Given the description of an element on the screen output the (x, y) to click on. 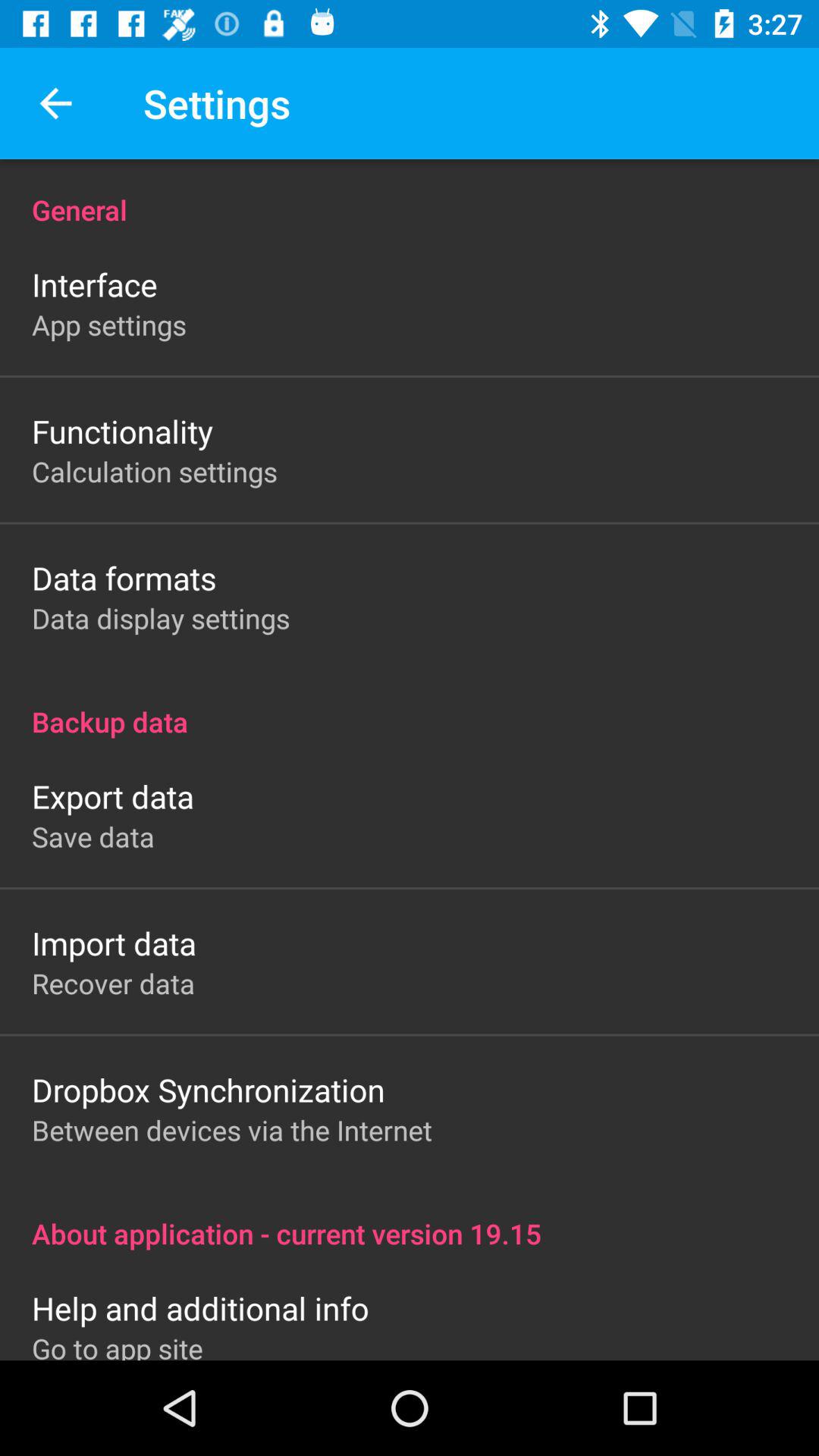
turn off the item above general (55, 103)
